Given the description of an element on the screen output the (x, y) to click on. 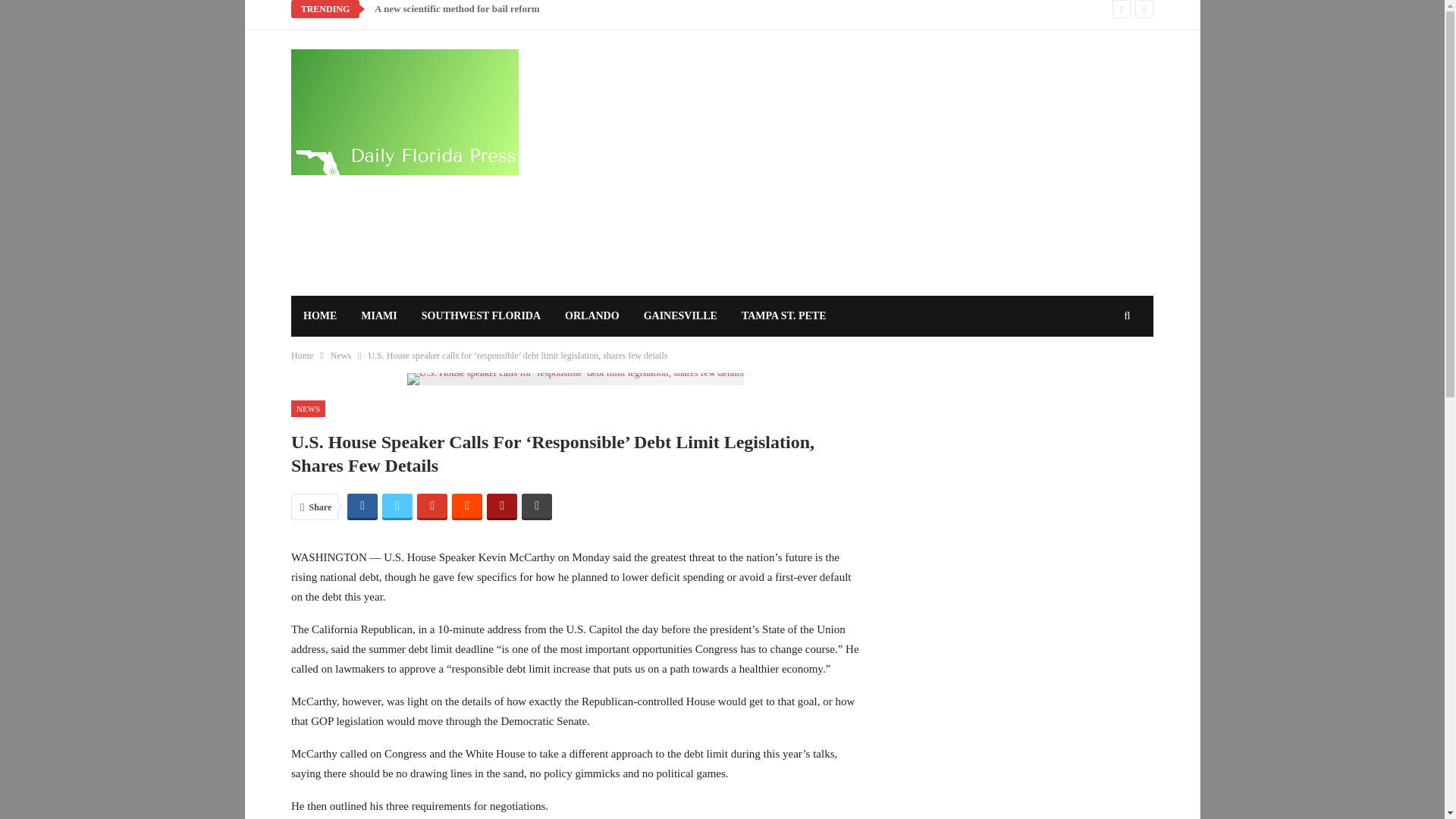
News (340, 355)
A new scientific method for bail reform (457, 8)
NEWS (307, 408)
SOUTHWEST FLORIDA (481, 315)
GAINESVILLE (680, 315)
HOME (320, 315)
MIAMI (379, 315)
Home (302, 355)
ORLANDO (592, 315)
TAMPA ST. PETE (783, 315)
